Given the description of an element on the screen output the (x, y) to click on. 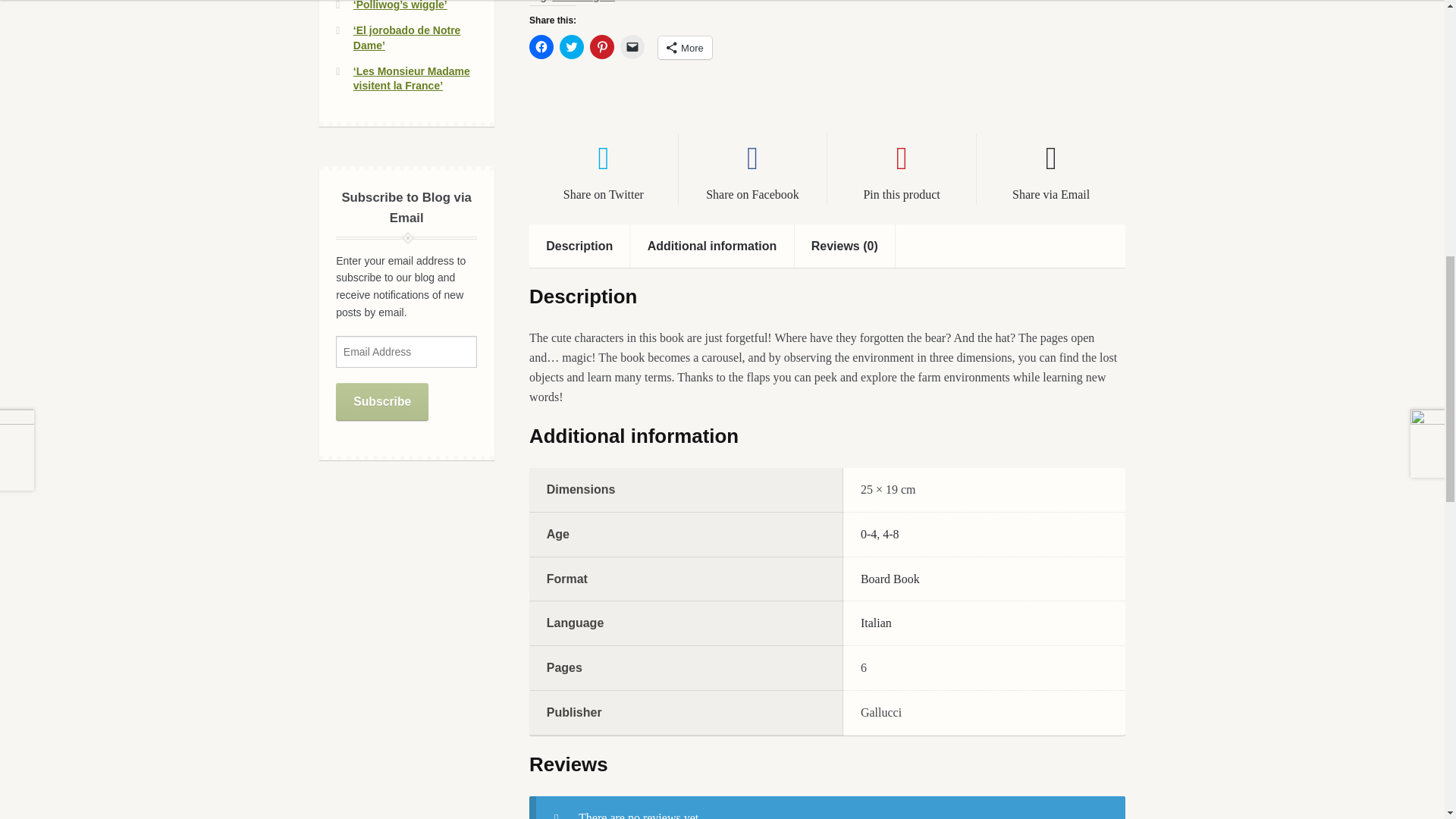
Click to share on Pinterest (601, 46)
Click to share on Twitter (571, 46)
Click to share on Facebook (541, 46)
Click to email a link to a friend (632, 46)
